Given the description of an element on the screen output the (x, y) to click on. 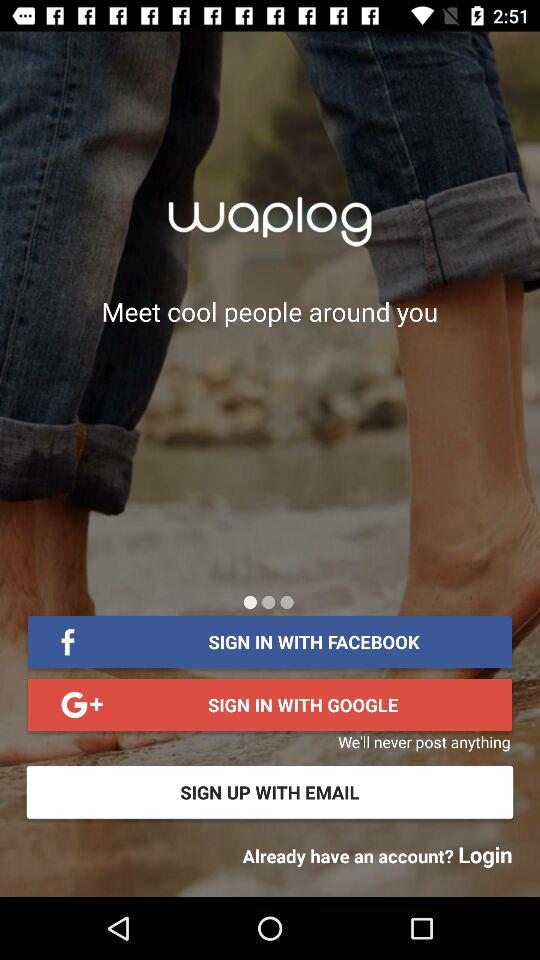
launch item above sign in with item (268, 601)
